Given the description of an element on the screen output the (x, y) to click on. 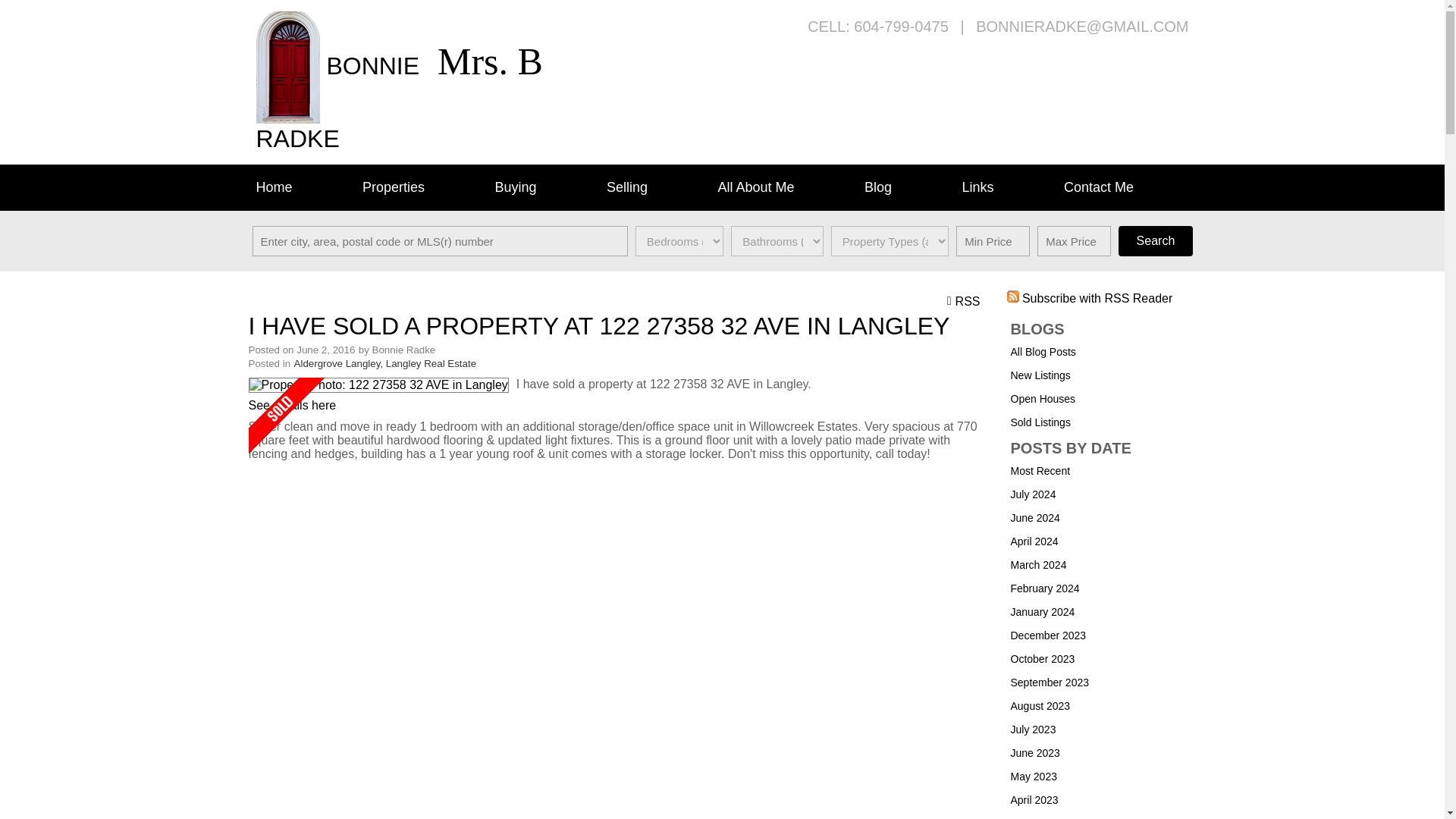
March 2023 (1037, 818)
Links (1004, 187)
Most Recent (1040, 470)
Buying (542, 187)
All Blog Posts (1042, 351)
New Listings (1040, 375)
September 2023 (1049, 682)
April 2023 (1034, 799)
April 2024 (1034, 541)
Blog (905, 187)
All About Me (783, 187)
Properties (421, 187)
Sold Listings (1040, 422)
Search (1155, 241)
August 2023 (1040, 705)
